Given the description of an element on the screen output the (x, y) to click on. 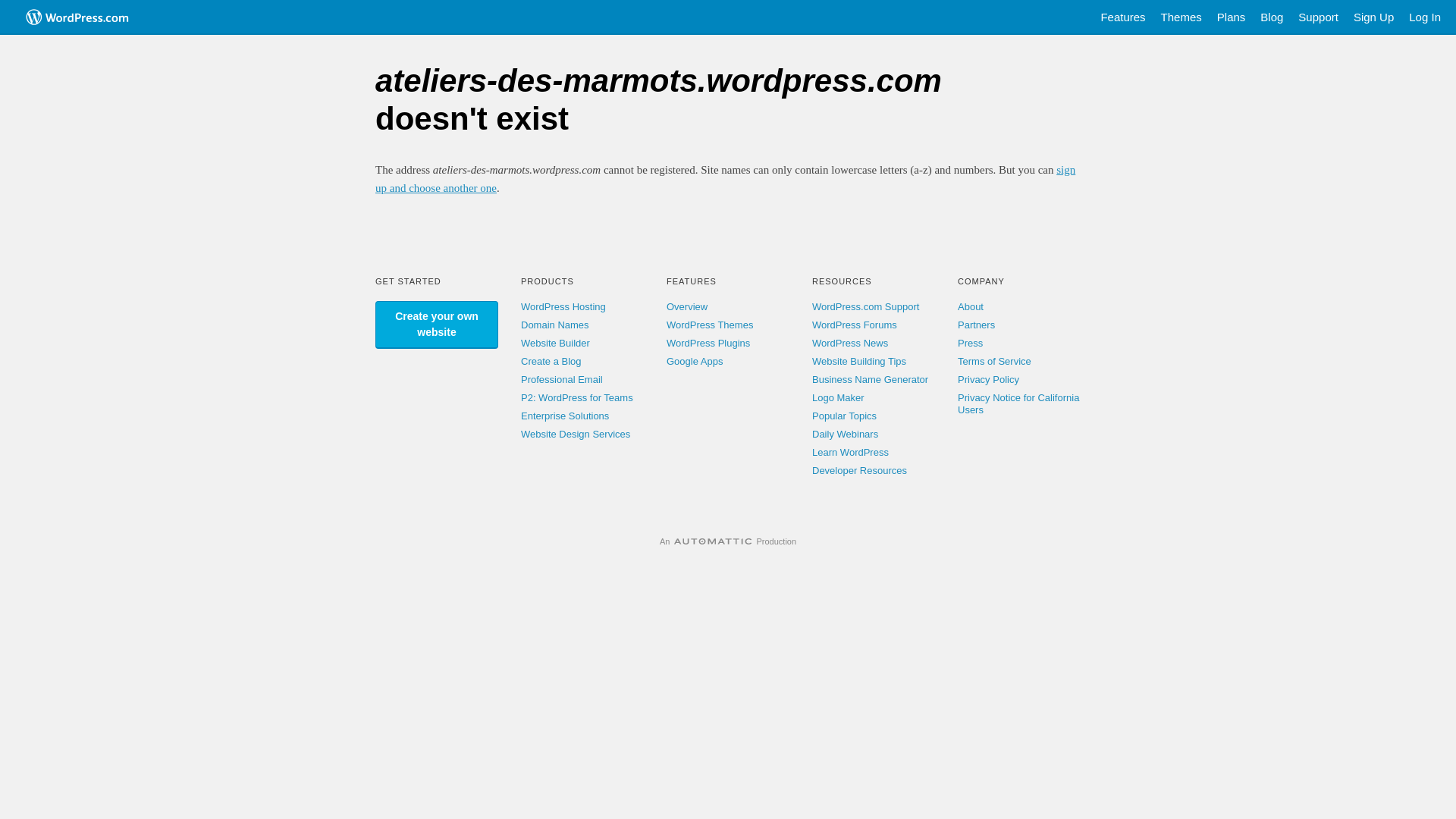
Google Apps Element type: text (694, 361)
sign up and choose another one Element type: text (725, 178)
Support Element type: text (1318, 17)
Popular Topics Element type: text (844, 415)
Themes Element type: text (1181, 17)
Business Name Generator Element type: text (870, 379)
WordPress Hosting Element type: text (562, 306)
Automattic Element type: text (712, 541)
About Element type: text (970, 306)
Website Design Services Element type: text (575, 433)
Terms of Service Element type: text (994, 361)
Log In Element type: text (1424, 17)
Daily Webinars Element type: text (845, 433)
WordPress Plugins Element type: text (707, 342)
Create a Blog Element type: text (550, 361)
P2: WordPress for Teams Element type: text (576, 397)
Enterprise Solutions Element type: text (564, 415)
WordPress Forums Element type: text (854, 324)
Plans Element type: text (1231, 17)
Blog Element type: text (1271, 17)
Partners Element type: text (975, 324)
Privacy Policy Element type: text (988, 379)
Website Builder Element type: text (554, 342)
Logo Maker Element type: text (838, 397)
Features Element type: text (1122, 17)
Overview Element type: text (686, 306)
Create your own website Element type: text (436, 324)
Learn WordPress Element type: text (850, 452)
Domain Names Element type: text (554, 324)
Sign Up Element type: text (1373, 17)
Press Element type: text (969, 342)
WordPress.com Support Element type: text (865, 306)
Privacy Notice for California Users Element type: text (1018, 403)
WordPress Themes Element type: text (709, 324)
Developer Resources Element type: text (859, 470)
WordPress News Element type: text (850, 342)
Website Building Tips Element type: text (859, 361)
Professional Email Element type: text (561, 379)
